Given the description of an element on the screen output the (x, y) to click on. 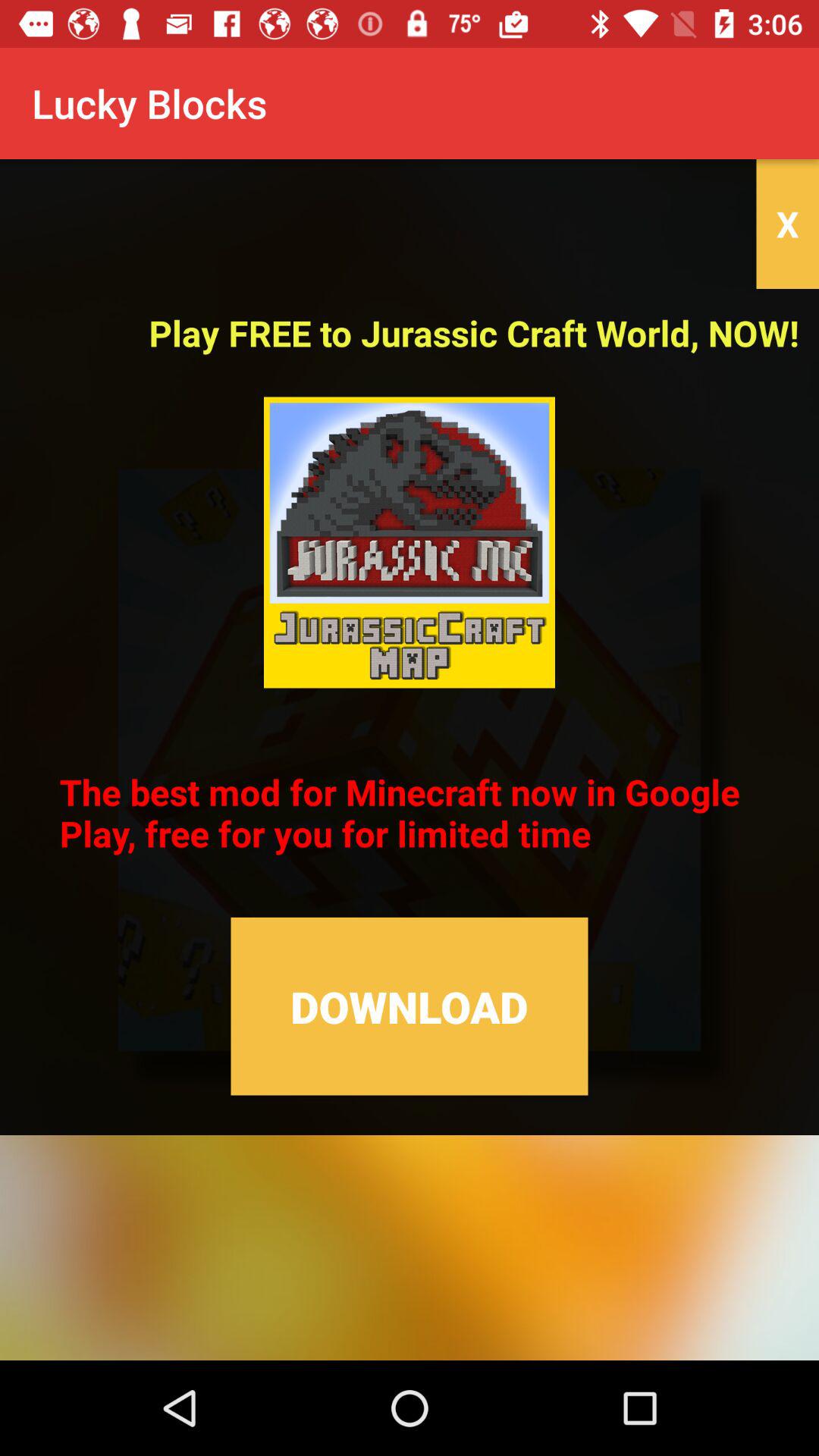
select the item below the the best mod icon (409, 1006)
